Given the description of an element on the screen output the (x, y) to click on. 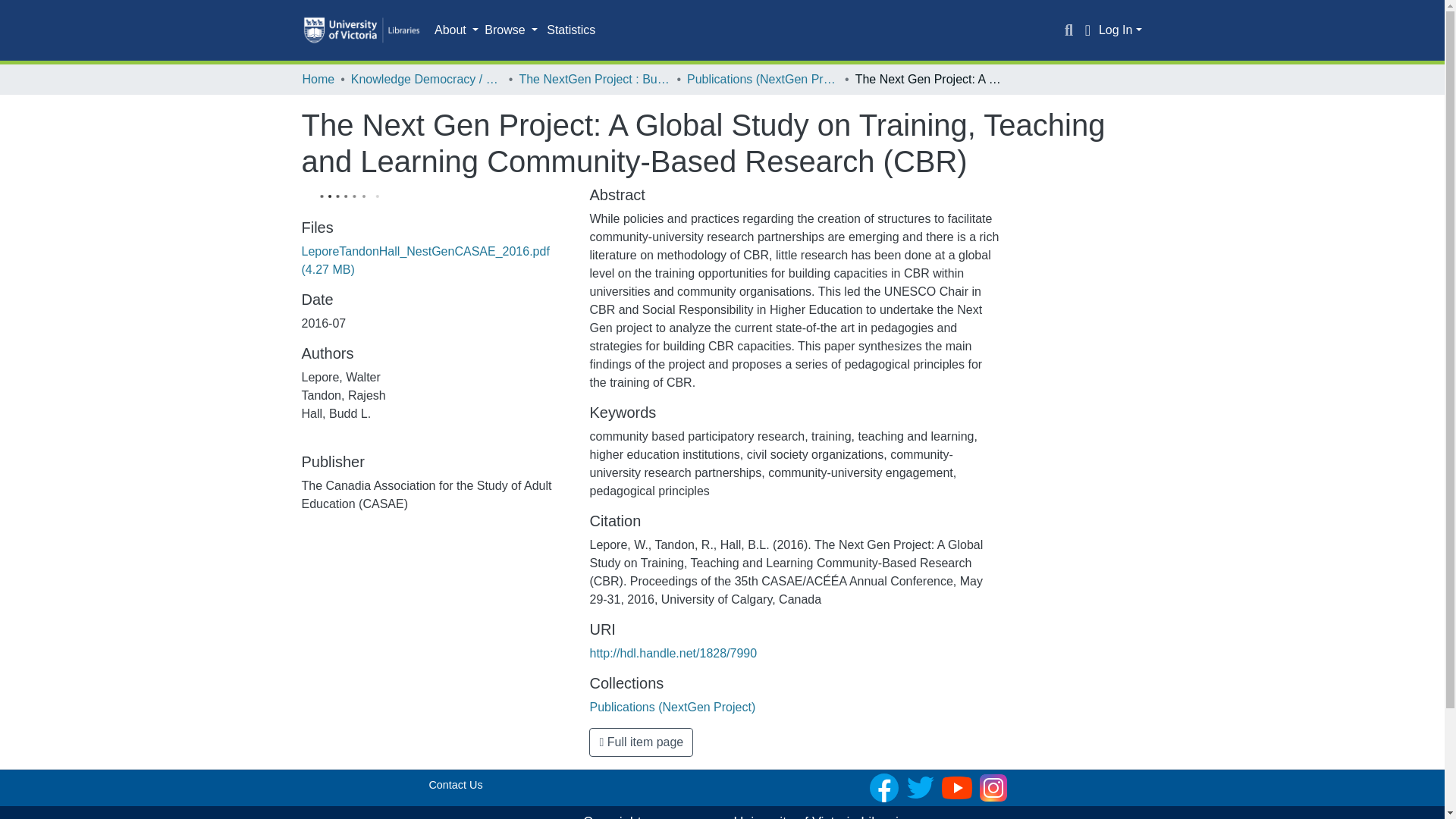
About (455, 30)
Home (317, 79)
Contact Us (454, 784)
Language switch (1087, 30)
Full item page (641, 742)
Search (1068, 30)
Browse (510, 30)
Log In (1119, 29)
Statistics (570, 30)
